Given the description of an element on the screen output the (x, y) to click on. 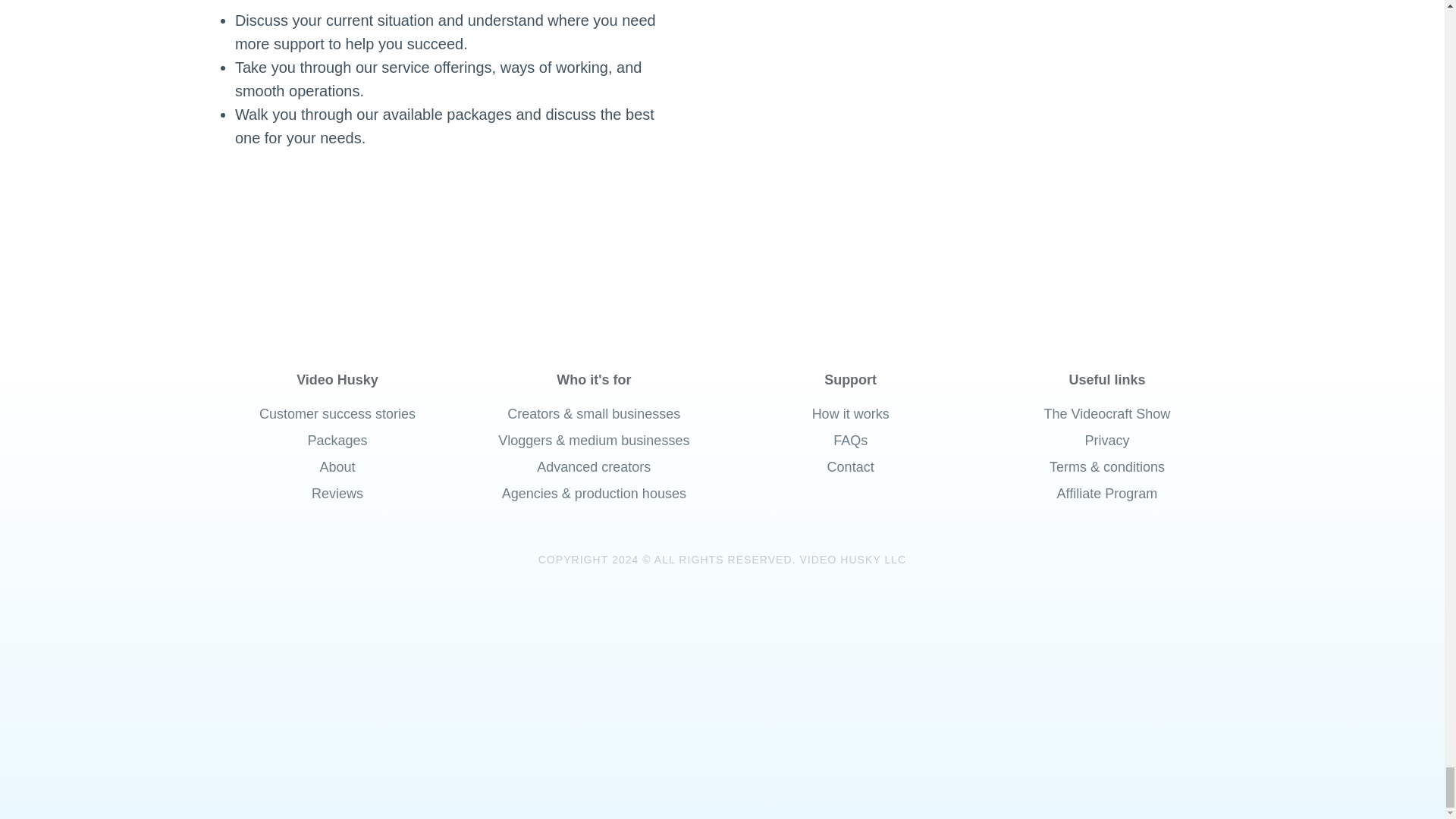
About (337, 467)
Customer success stories (337, 414)
Packages (337, 440)
